Given the description of an element on the screen output the (x, y) to click on. 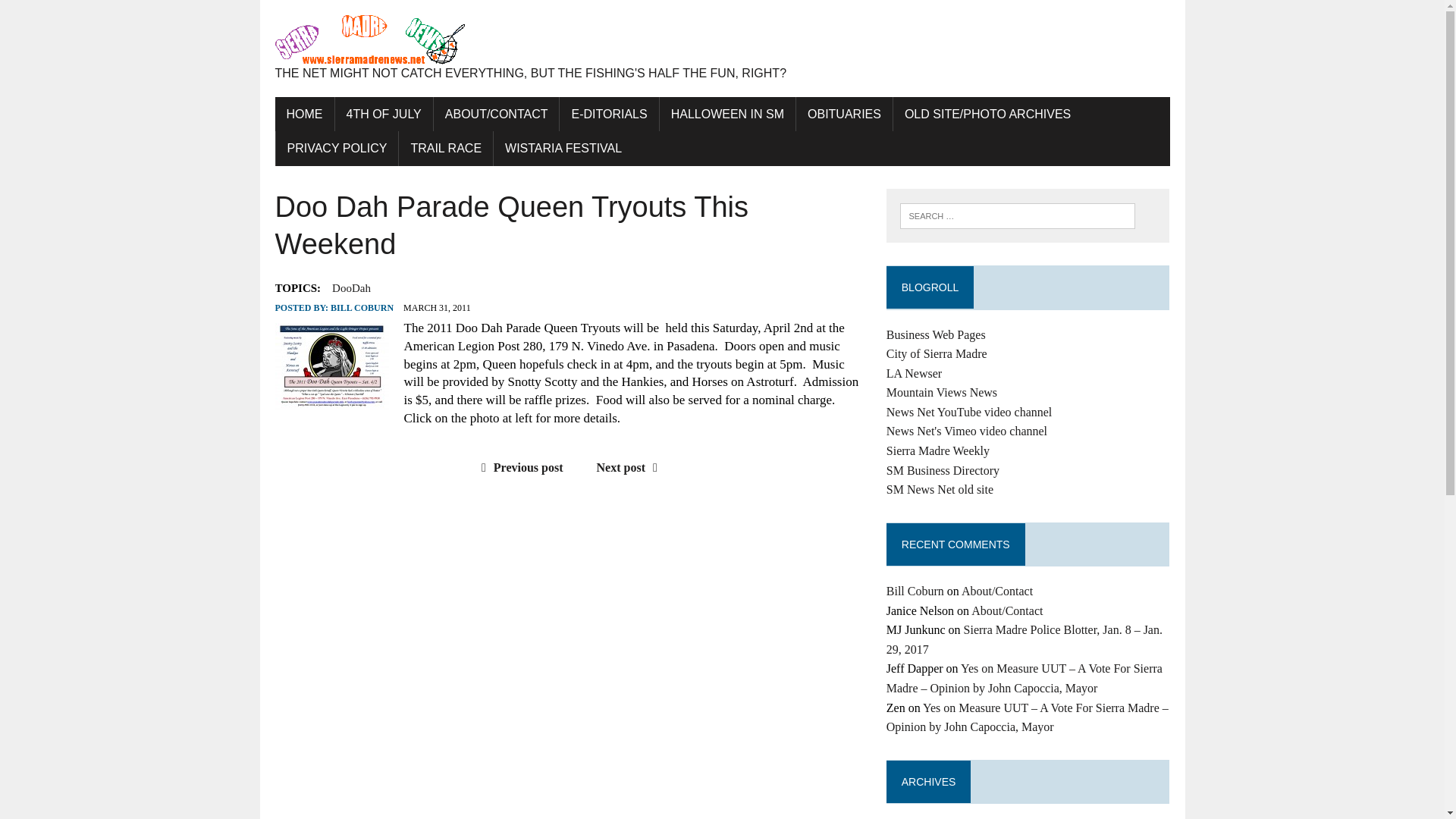
Search (75, 14)
DooDah (351, 288)
SM News Net old site (939, 489)
Business Web Pages (935, 334)
Next post (630, 467)
HOME (304, 114)
Official City website (936, 353)
LA Newser (914, 373)
2011doodahqueentryouts (331, 366)
Bill Coburn (914, 590)
